Given the description of an element on the screen output the (x, y) to click on. 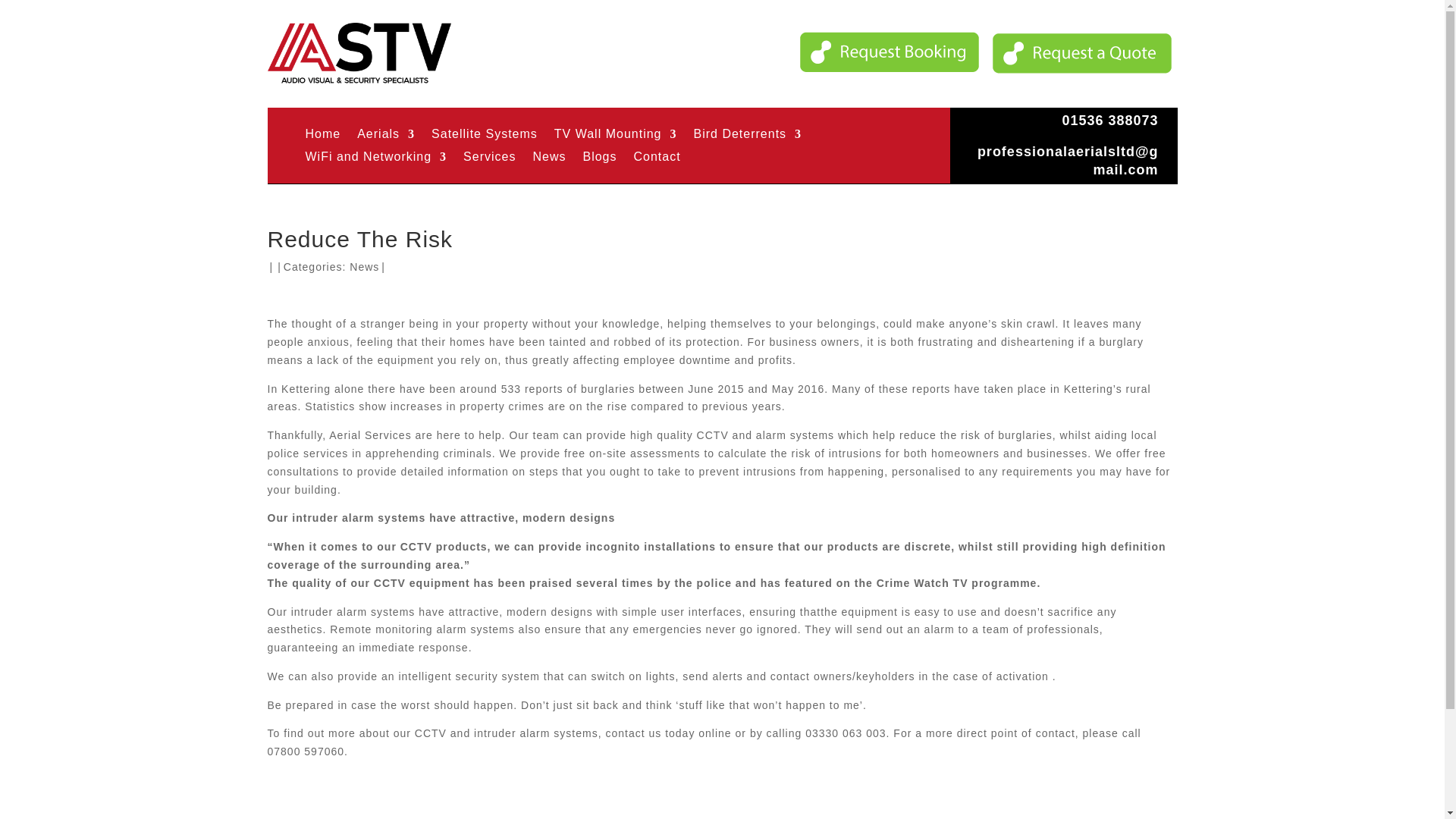
Contact (657, 159)
Blogs (598, 159)
News (549, 159)
Aerials (385, 136)
Services (489, 159)
Home (322, 136)
Satellite Systems (483, 136)
News (363, 266)
TV Wall Mounting (615, 136)
01536 388073 (1109, 120)
